Given the description of an element on the screen output the (x, y) to click on. 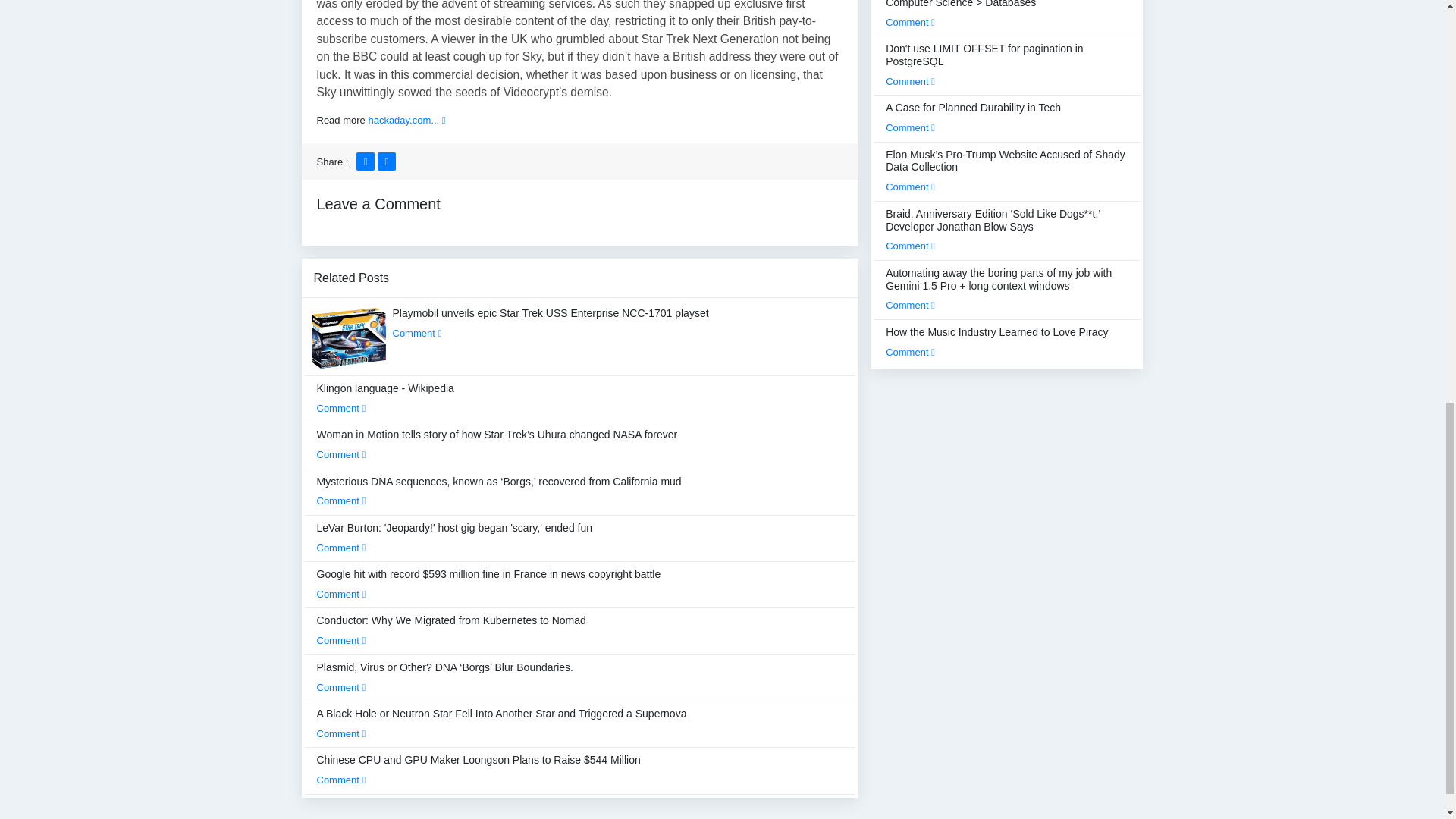
Comment (341, 686)
Klingon language - Wikipedia (385, 398)
Comment (417, 333)
Comment (341, 454)
Comment (341, 733)
Comment (341, 640)
Comment (341, 547)
Comment (341, 408)
hackaday.com... (406, 120)
LeVar Burton: 'Jeopardy!' host gig began 'scary,' ended fun (454, 537)
Comment (341, 593)
Conductor: Why We Migrated from Kubernetes to Nomad (451, 630)
Comment (341, 500)
